Given the description of an element on the screen output the (x, y) to click on. 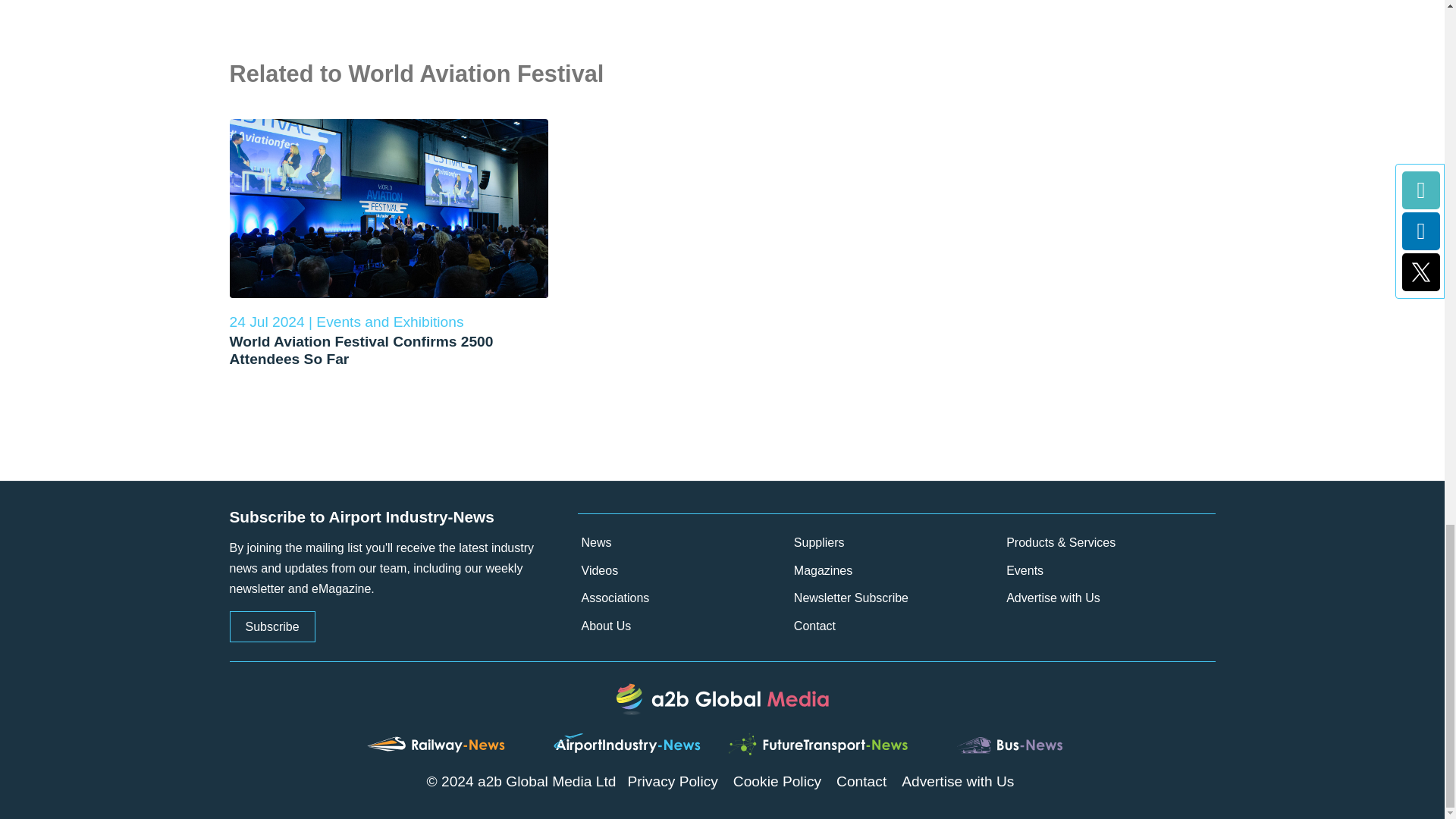
Subscribe (271, 626)
Advertise with Us (1108, 598)
Magazines (896, 571)
About Us (684, 626)
Videos (684, 571)
News (684, 543)
Suppliers (896, 543)
Associations (684, 598)
Newsletter Subscribe (896, 598)
Events (1108, 571)
